Given the description of an element on the screen output the (x, y) to click on. 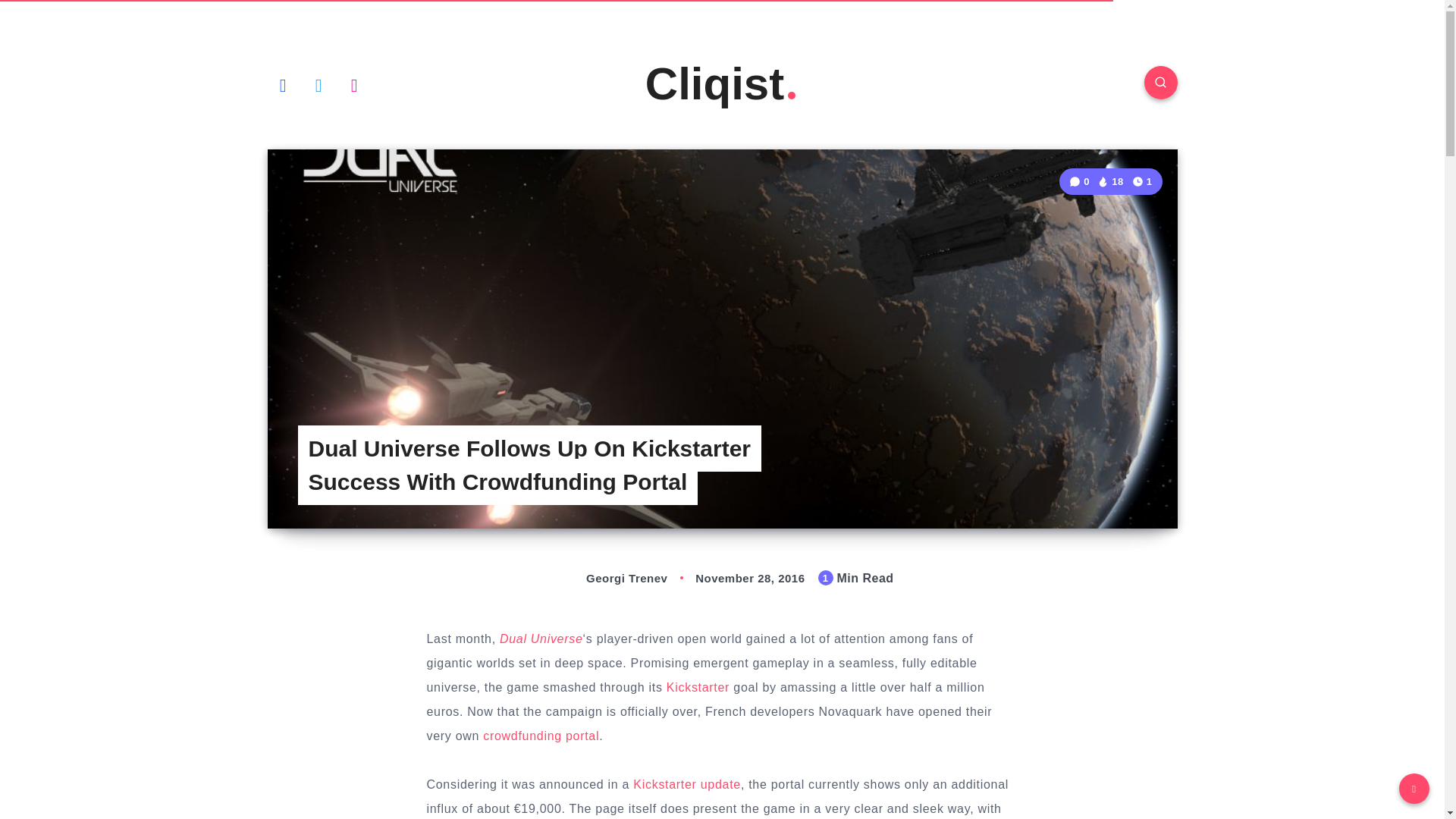
crowdfunding portal (540, 735)
0 (1080, 181)
Author: Georgi Trenev (610, 577)
1 Min Read (1142, 181)
0 Comments (1080, 181)
Dual Universe (541, 638)
Kickstarter (697, 686)
Kickstarter update (687, 784)
Cliqist (722, 83)
18 Views (1110, 181)
